Given the description of an element on the screen output the (x, y) to click on. 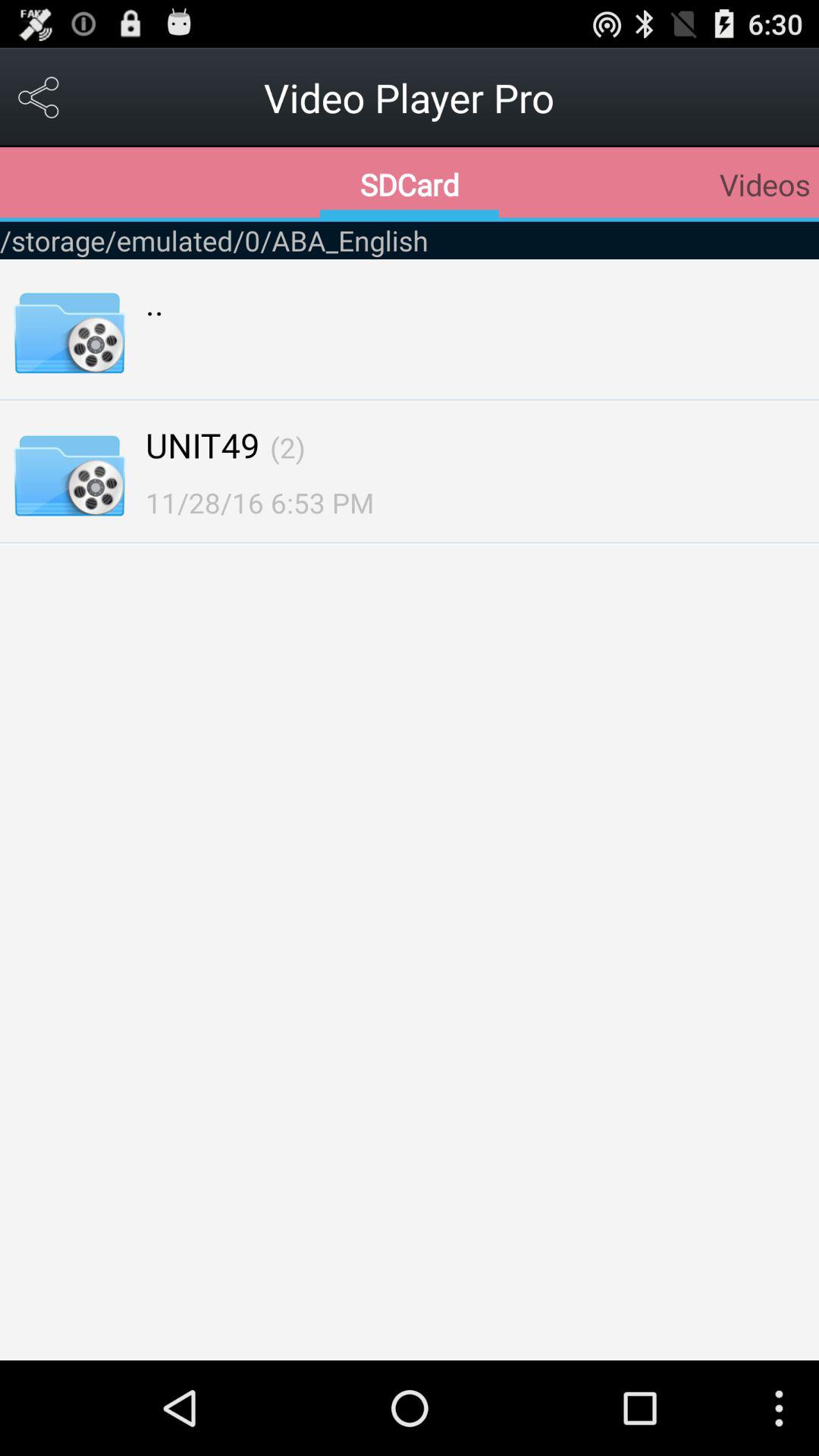
tap icon above unit49 (154, 302)
